Given the description of an element on the screen output the (x, y) to click on. 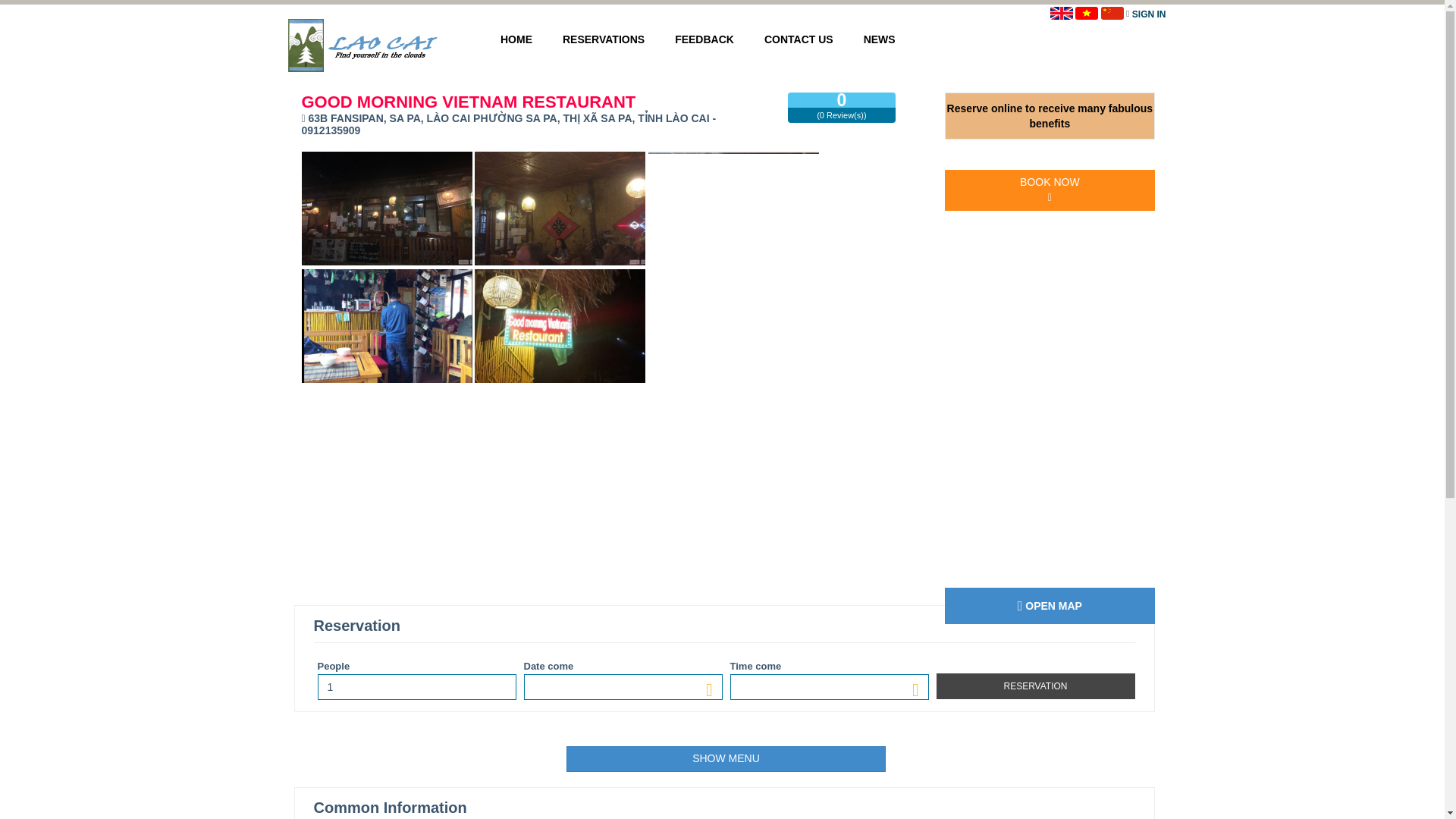
Reservation (1035, 686)
OPEN MAP (1049, 606)
BOOK NOW (1049, 189)
SHOW MENU (725, 759)
Reservation (1035, 686)
RESERVATIONS (603, 39)
FEEDBACK (704, 39)
CONTACT US (798, 39)
SIGN IN (1149, 14)
1 (416, 687)
